Given the description of an element on the screen output the (x, y) to click on. 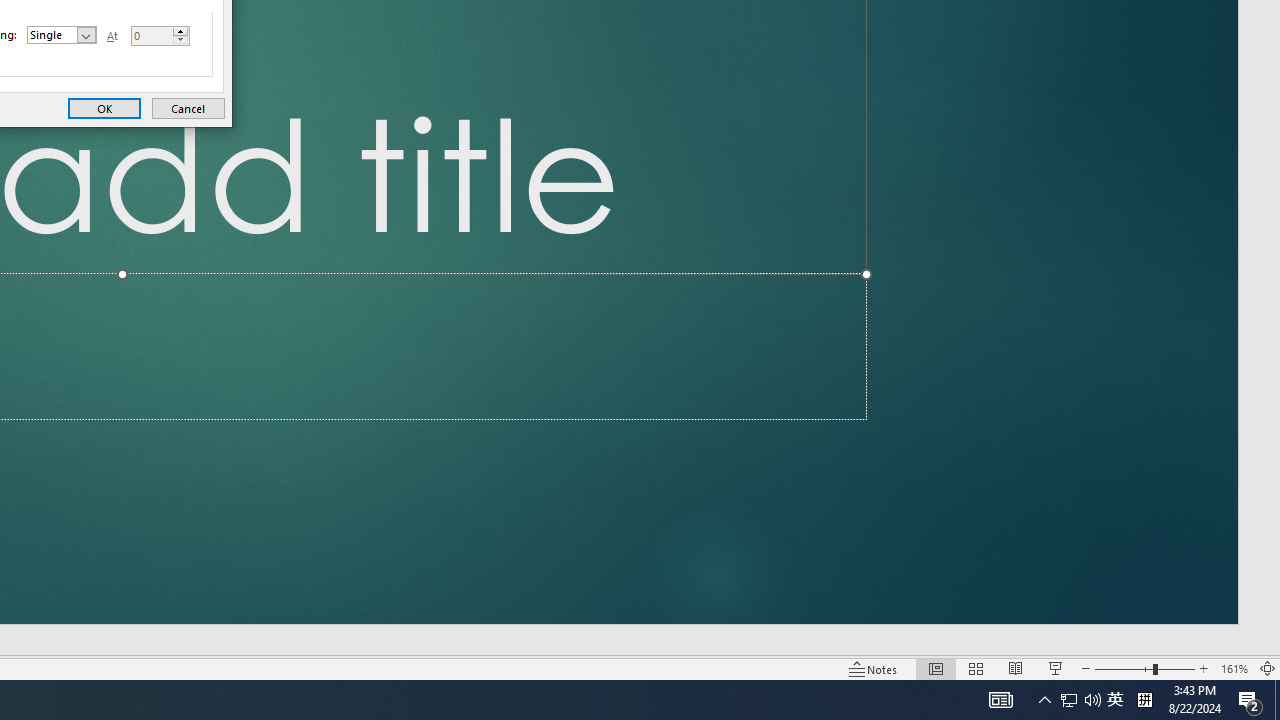
OK (104, 108)
